Given the description of an element on the screen output the (x, y) to click on. 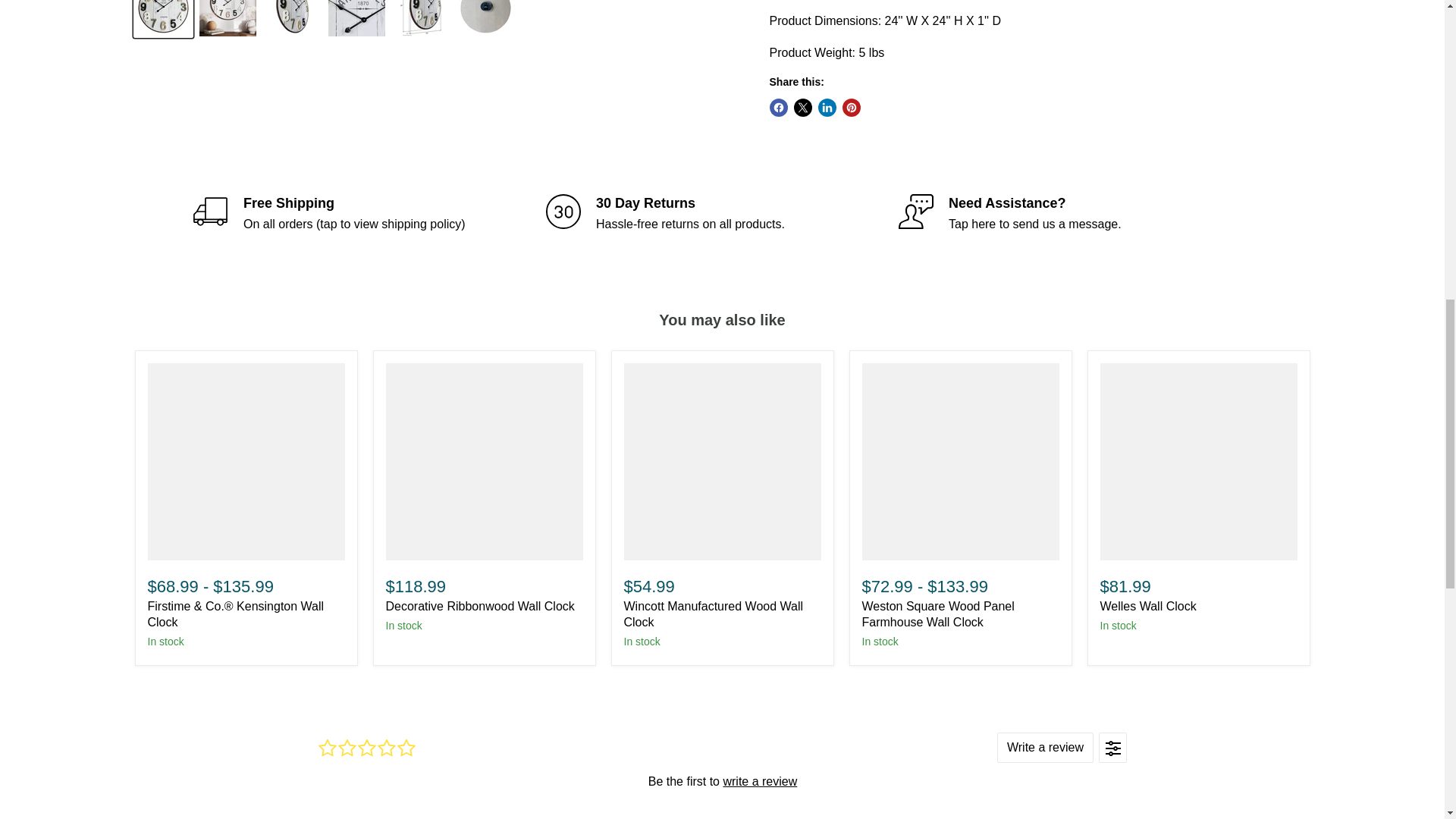
Product reviews widget (722, 768)
